Given the description of an element on the screen output the (x, y) to click on. 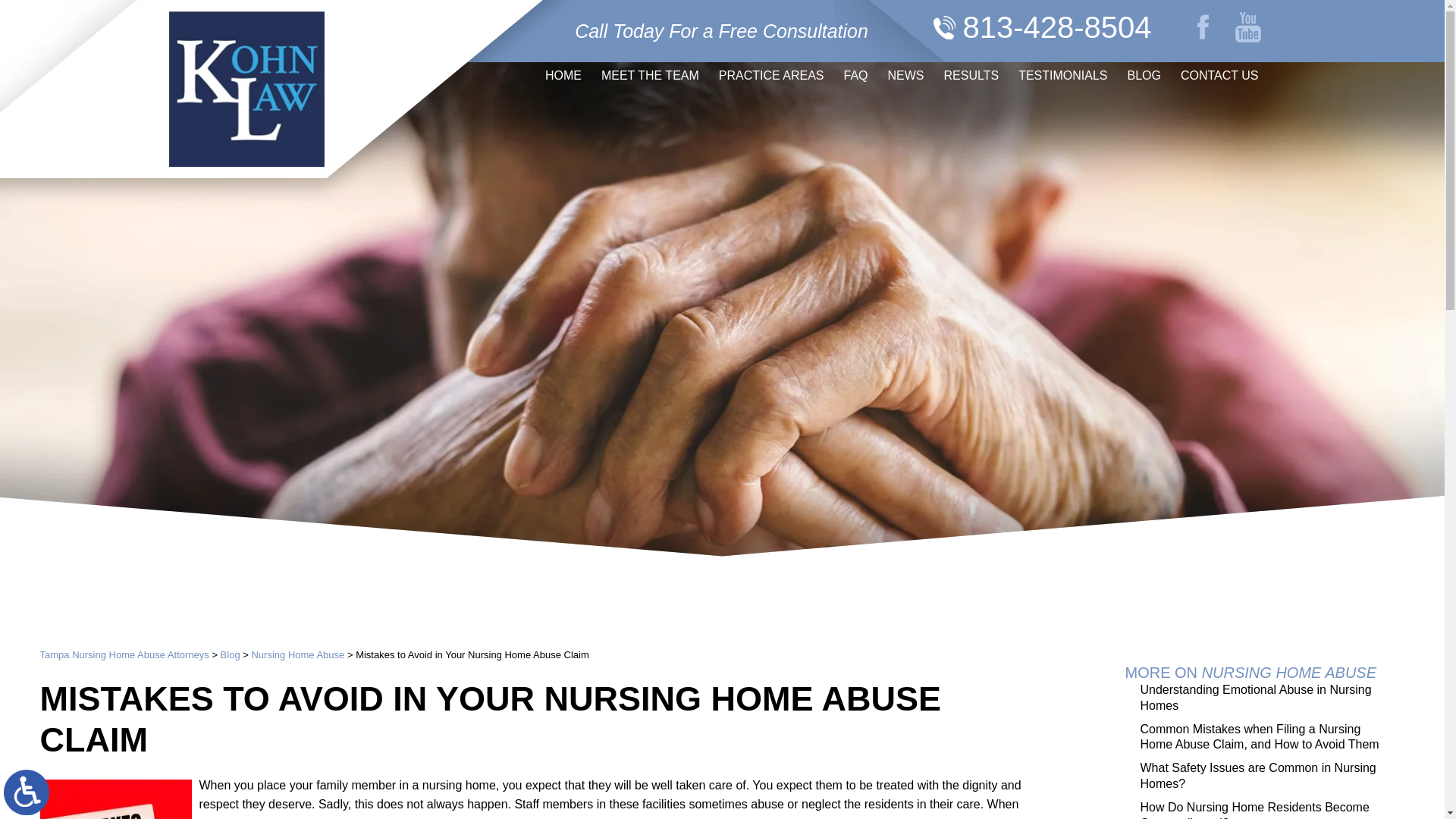
MEET THE TEAM (650, 75)
813-428-8504 (1041, 23)
HOME (563, 75)
PRACTICE AREAS (771, 75)
Switch to ADA Accessible Theme (26, 791)
MistakesAvoid (114, 799)
